Given the description of an element on the screen output the (x, y) to click on. 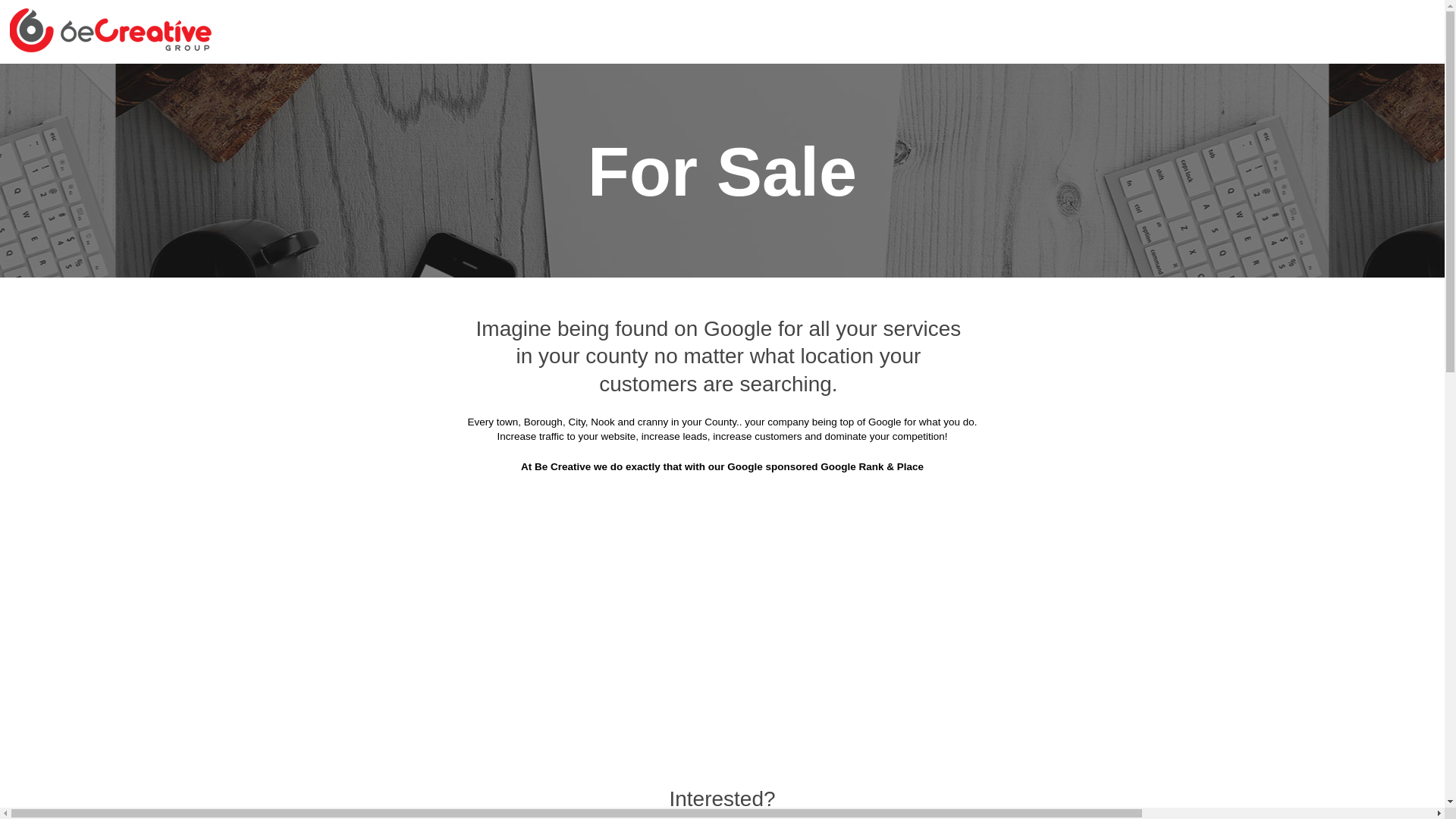
Aggregate Suppliers Budleigh Salterton Devon (582, 196)
Aggregate Suppliers Chudleigh Devon (622, 234)
Aggregate Suppliers Cornwall (488, 83)
Aggregate Suppliers Bovey Tracey Devon (1070, 121)
Aggregate Suppliers Kingsteignton Devon (388, 422)
Aggregate Suppliers Exeter Devon (870, 271)
Aggregate Suppliers Falmouth Cornwall (600, 309)
Aggregate Suppliers Launceston Cornwall (632, 422)
Aggregate Suppliers Honiton Devon (405, 383)
Aggregate Suppliers Devon (660, 83)
Aggregate Suppliers Buckfastleigh Devon (860, 158)
Aggregate Suppliers Dawlish Devon (663, 271)
Aggregate Suppliers Holsworthy Devon (1076, 346)
Aggregate Suppliers Ilfracombe Devon (625, 383)
Aggregate Suppliers Fowey Cornwall (824, 309)
